Given the description of an element on the screen output the (x, y) to click on. 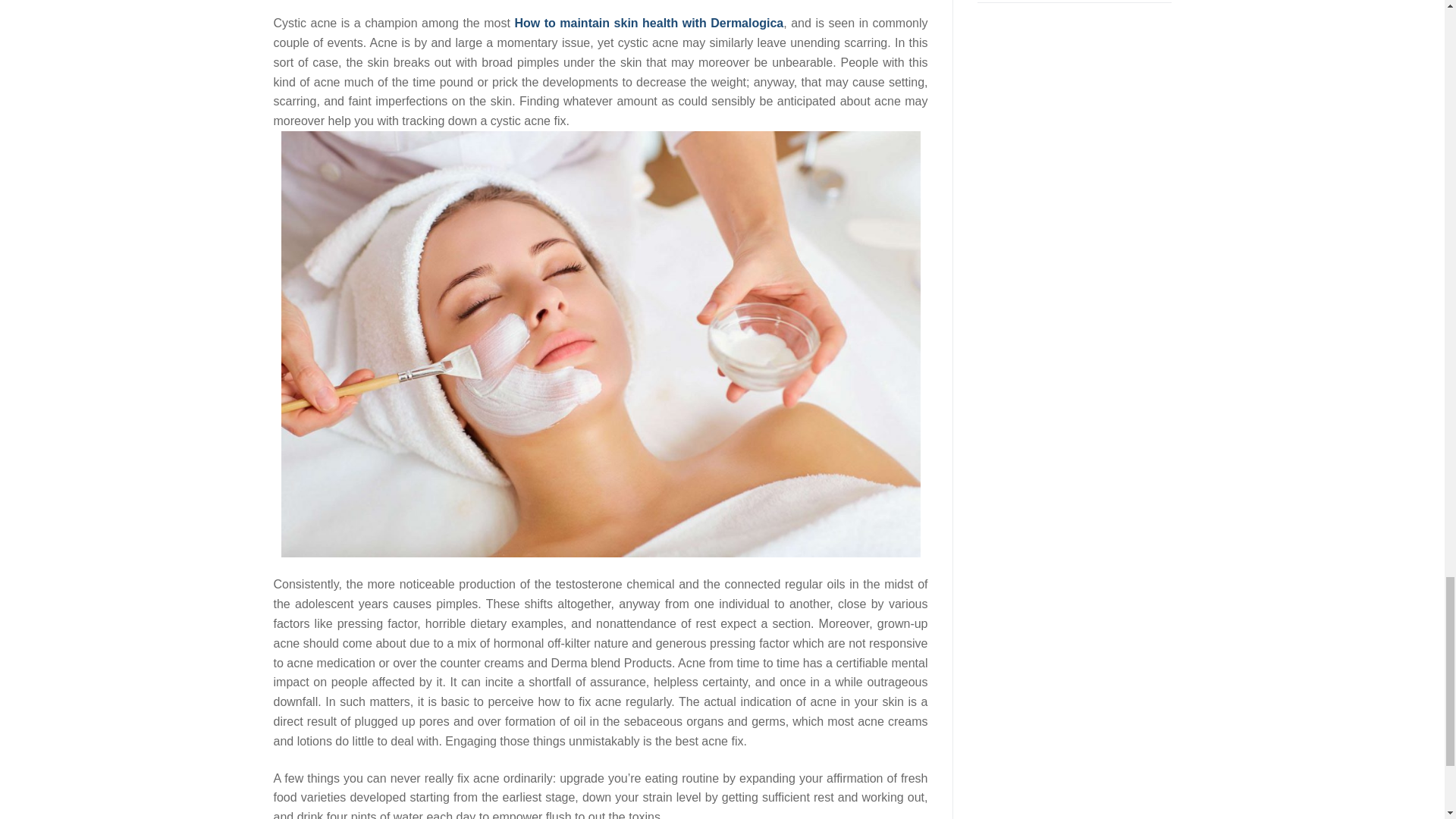
How to maintain skin health with Dermalogica (648, 22)
